Given the description of an element on the screen output the (x, y) to click on. 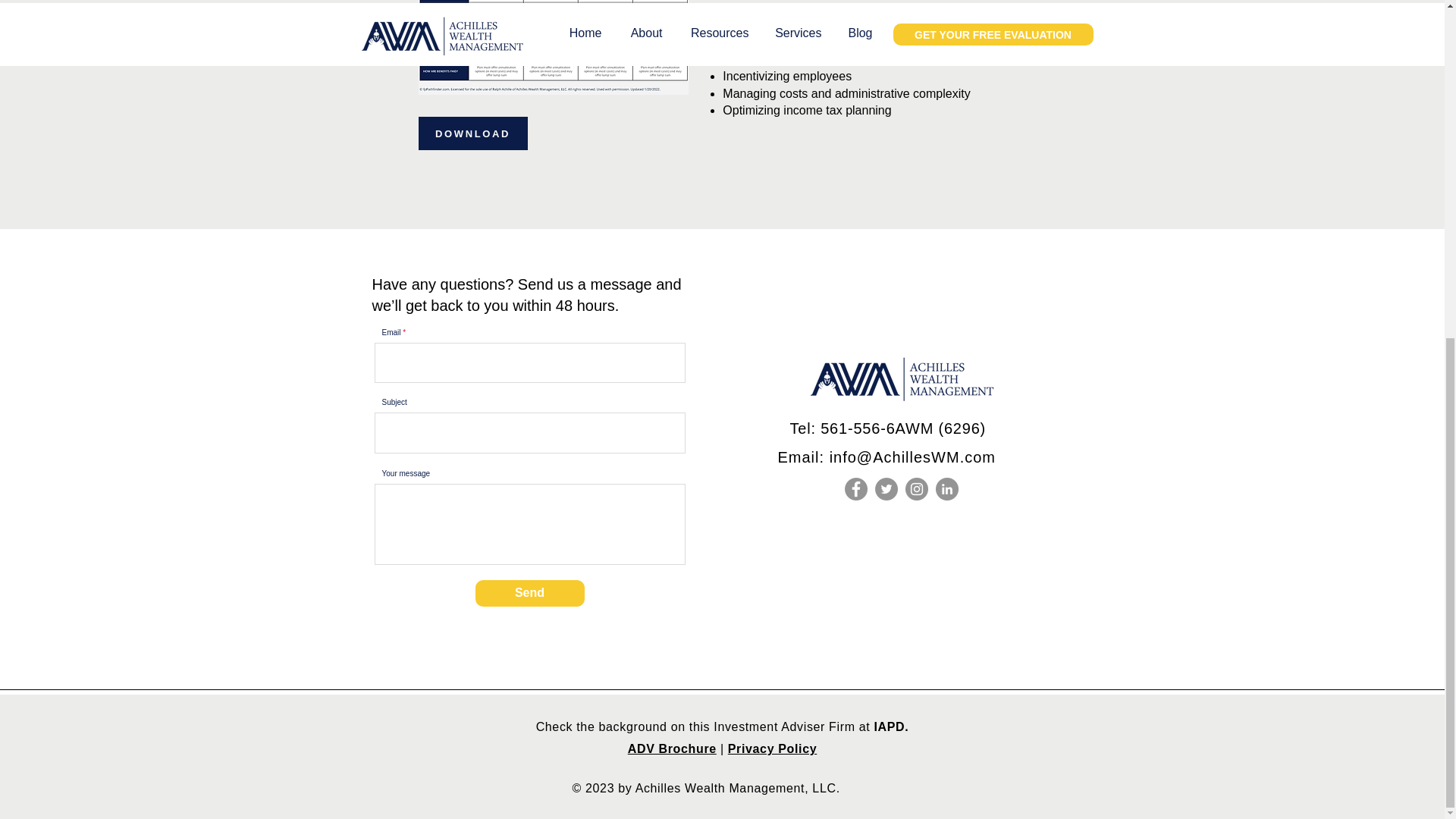
DOWNLOAD (473, 133)
 IAPD. (888, 726)
ADV Brochure (671, 748)
Send (528, 592)
